Given the description of an element on the screen output the (x, y) to click on. 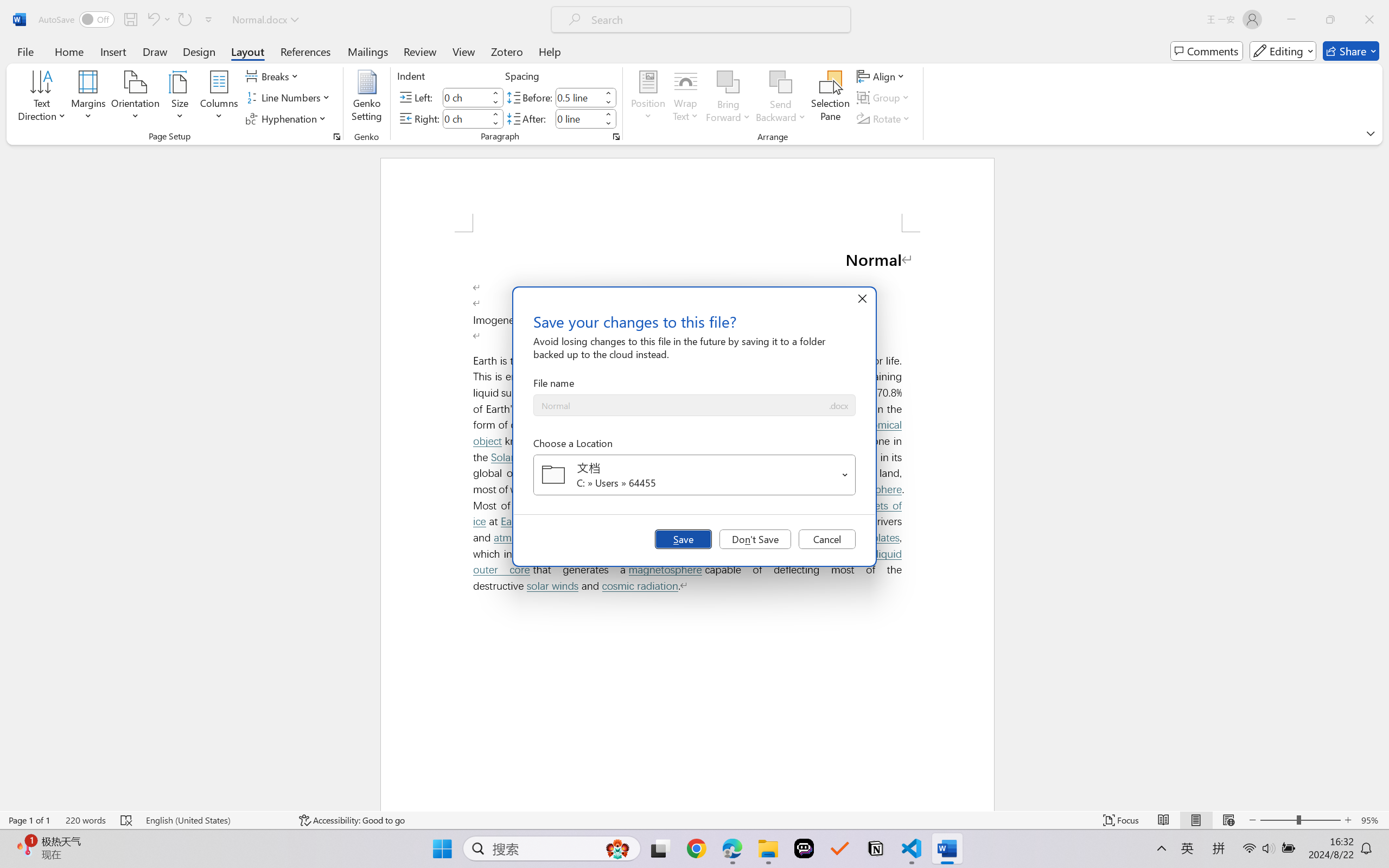
Save as type (837, 405)
Spelling and Grammar Check Errors (126, 819)
Genko Setting... (367, 97)
Spacing After (578, 118)
Class: MsoCommandBar (694, 819)
Selection Pane... (830, 97)
Undo Paragraph Formatting (158, 19)
Repeat Paragraph Formatting (184, 19)
